Given the description of an element on the screen output the (x, y) to click on. 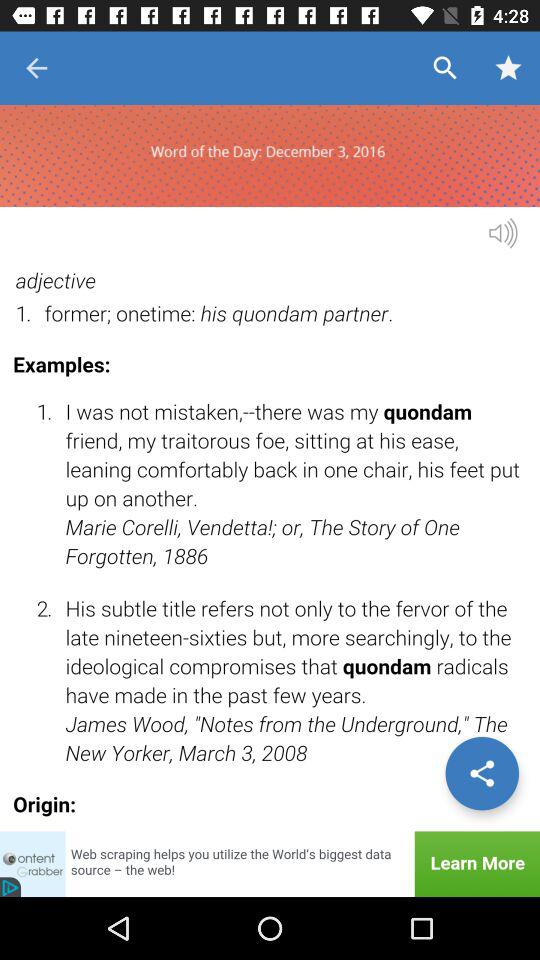
open advertisement (270, 864)
